Given the description of an element on the screen output the (x, y) to click on. 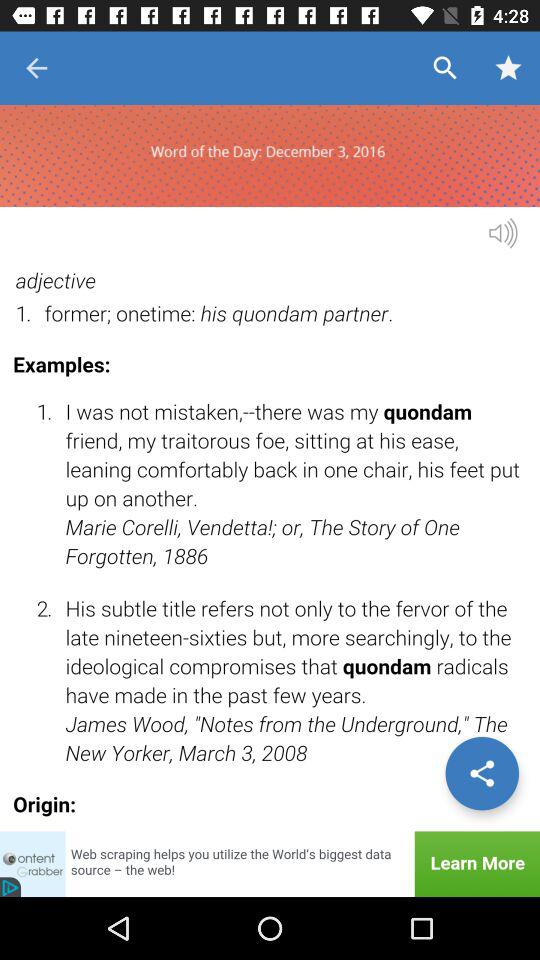
open advertisement (270, 864)
